Given the description of an element on the screen output the (x, y) to click on. 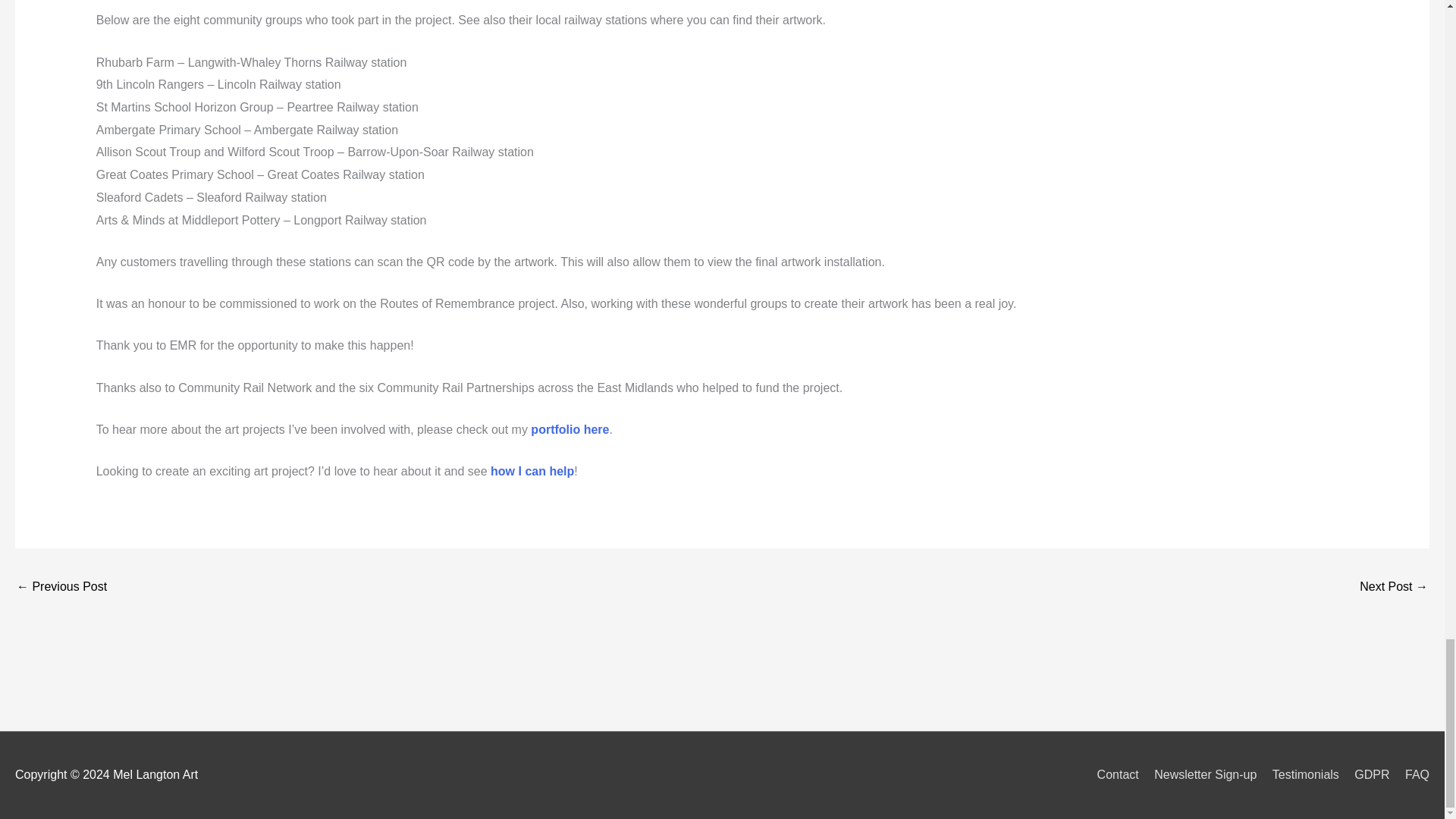
FAQ (1411, 774)
Lincoln Creates (61, 587)
Lincoln Christmas Market Print (1393, 587)
Testimonials (1299, 774)
GDPR (1365, 774)
Newsletter Sign-up (1198, 774)
Contact (1111, 774)
portfolio here (569, 429)
how I can help (531, 471)
